Given the description of an element on the screen output the (x, y) to click on. 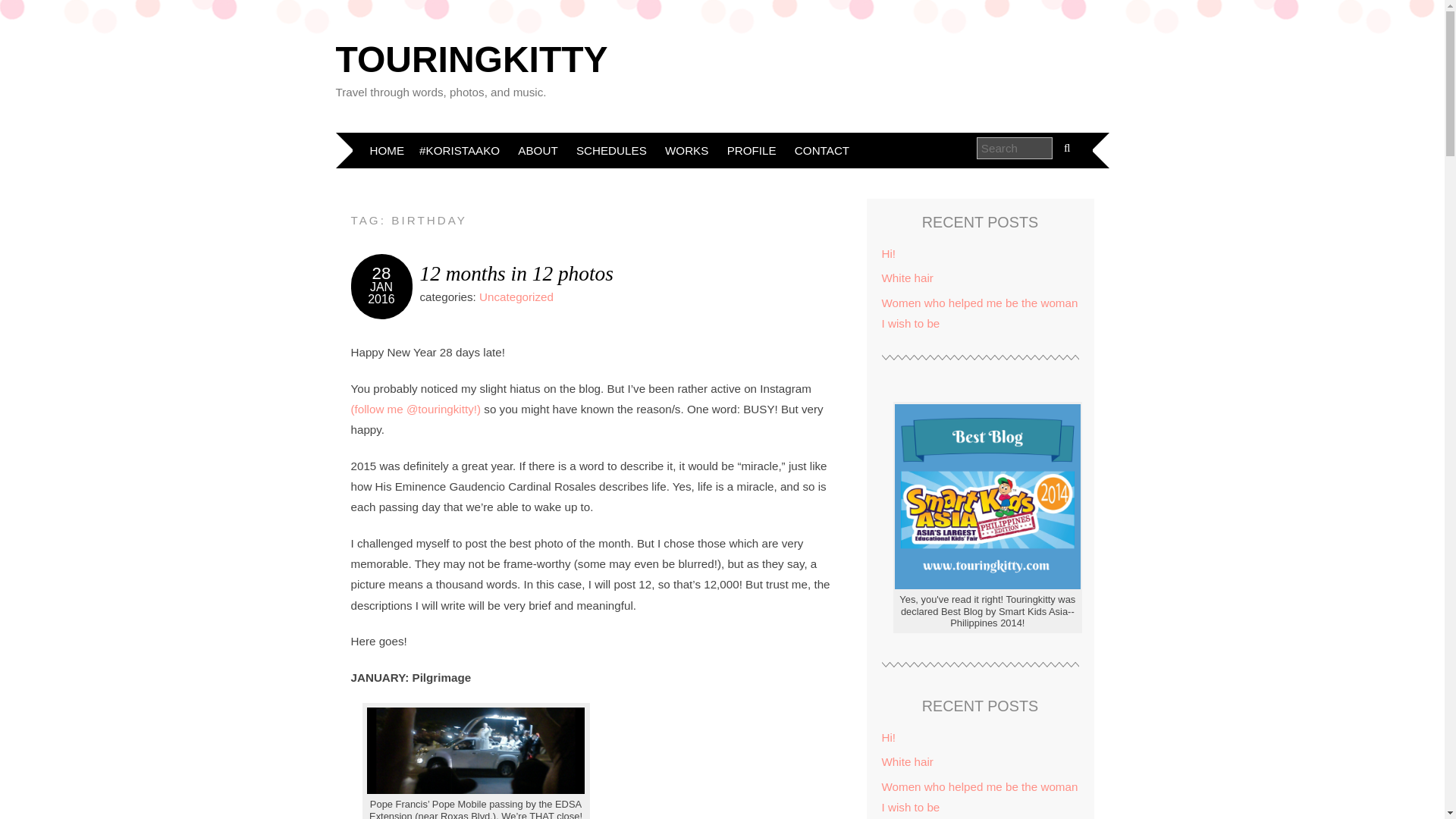
WORKS (687, 150)
12 months in 12 photos (516, 273)
White hair (906, 277)
28 (381, 272)
ABOUT (537, 150)
TOURINGKITTY (470, 59)
HOME (381, 298)
PROFILE (387, 150)
Uncategorized (751, 150)
CONTACT (516, 296)
Women who helped me be the woman I wish to be (822, 150)
Hi! (978, 313)
SCHEDULES (887, 253)
